Given the description of an element on the screen output the (x, y) to click on. 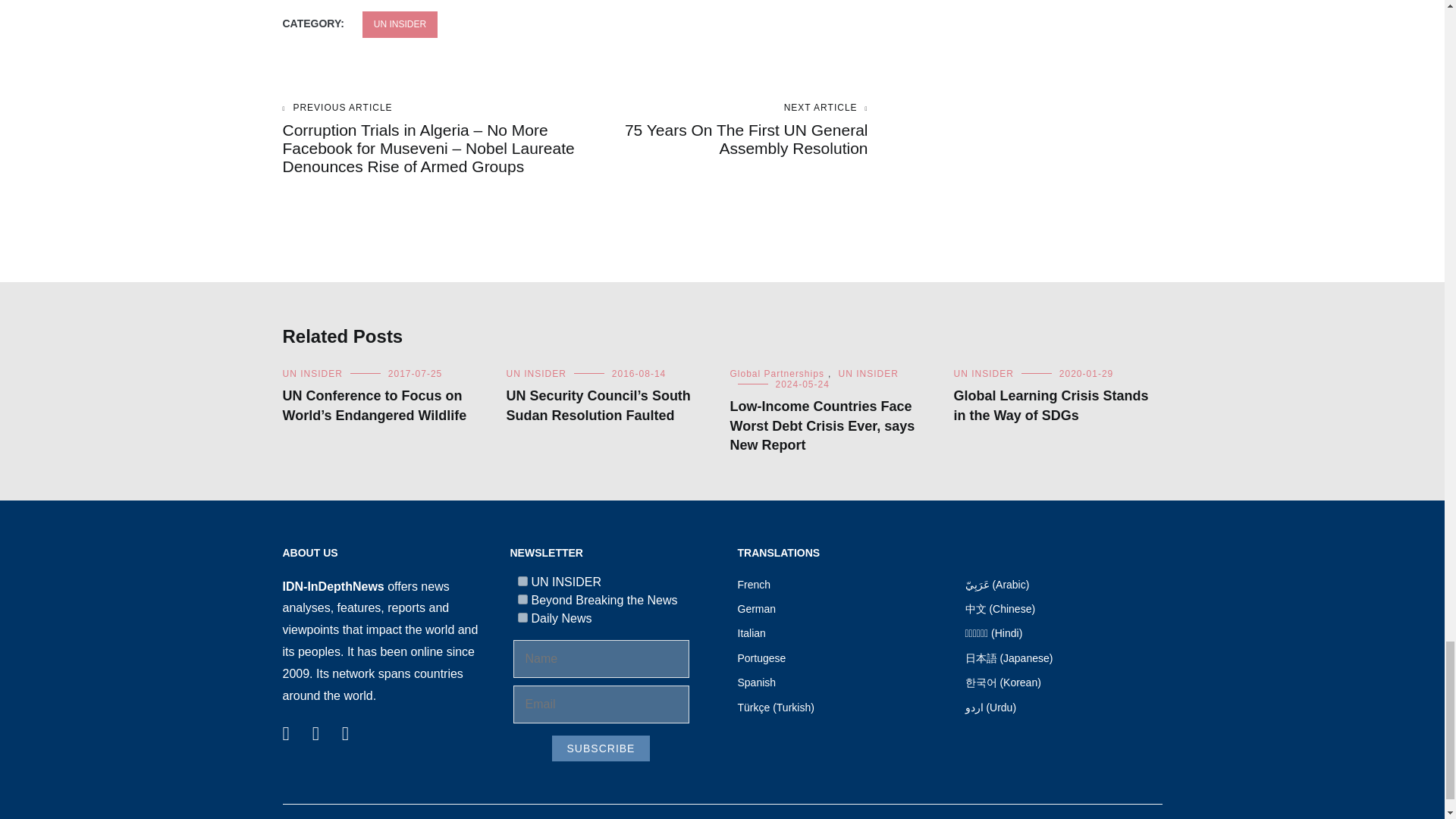
10 (521, 617)
9 (521, 599)
7 (521, 581)
